Given the description of an element on the screen output the (x, y) to click on. 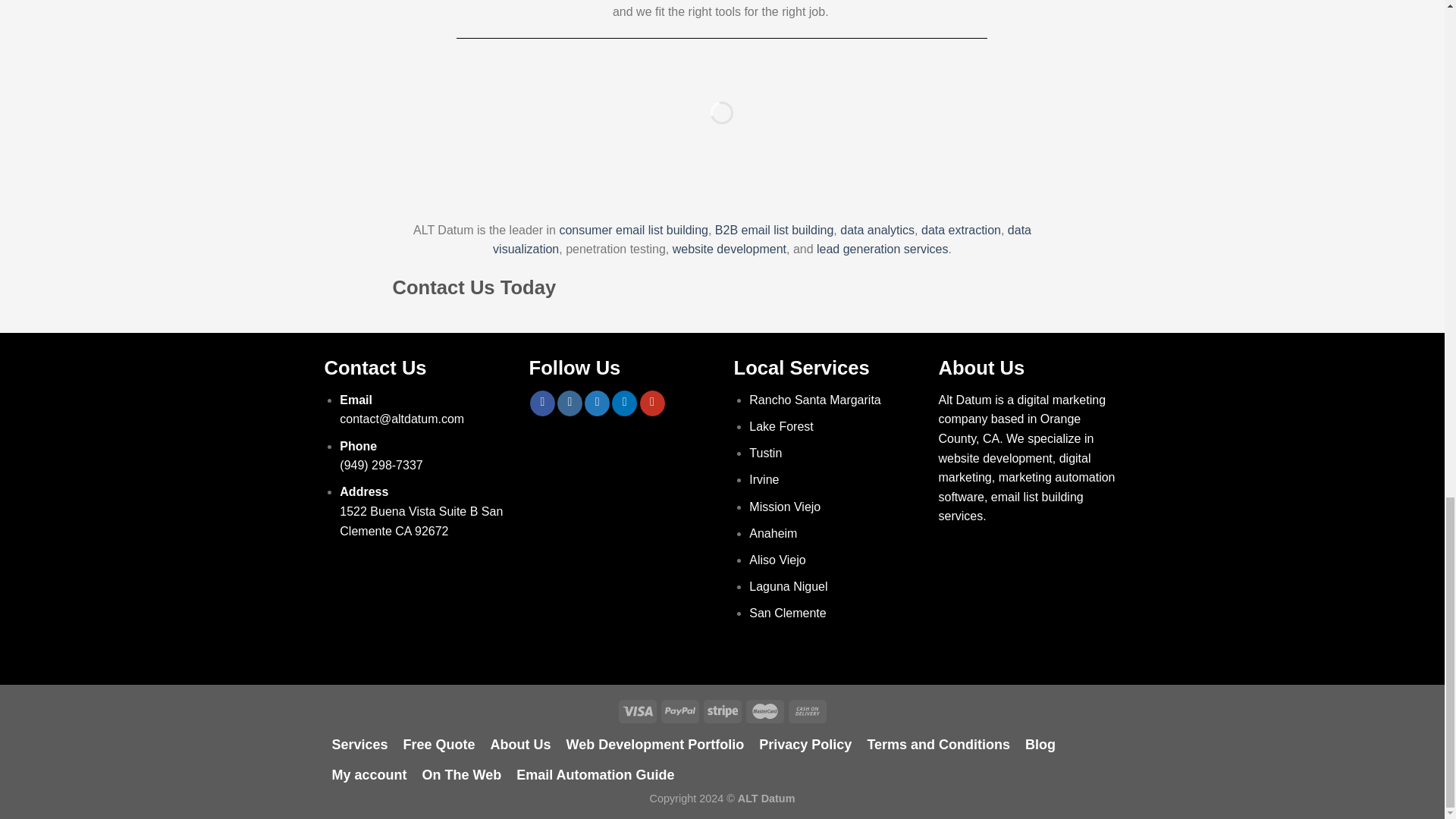
Lake Forest (780, 426)
Mission Viejo  (786, 506)
data extraction (961, 229)
Aliso Viejo (777, 559)
Irvine (763, 479)
Anaheim  (774, 533)
B2B email list building (774, 229)
consumer email list building (633, 229)
Free Quote (439, 744)
Rancho Santa Margarita  (816, 399)
